Given the description of an element on the screen output the (x, y) to click on. 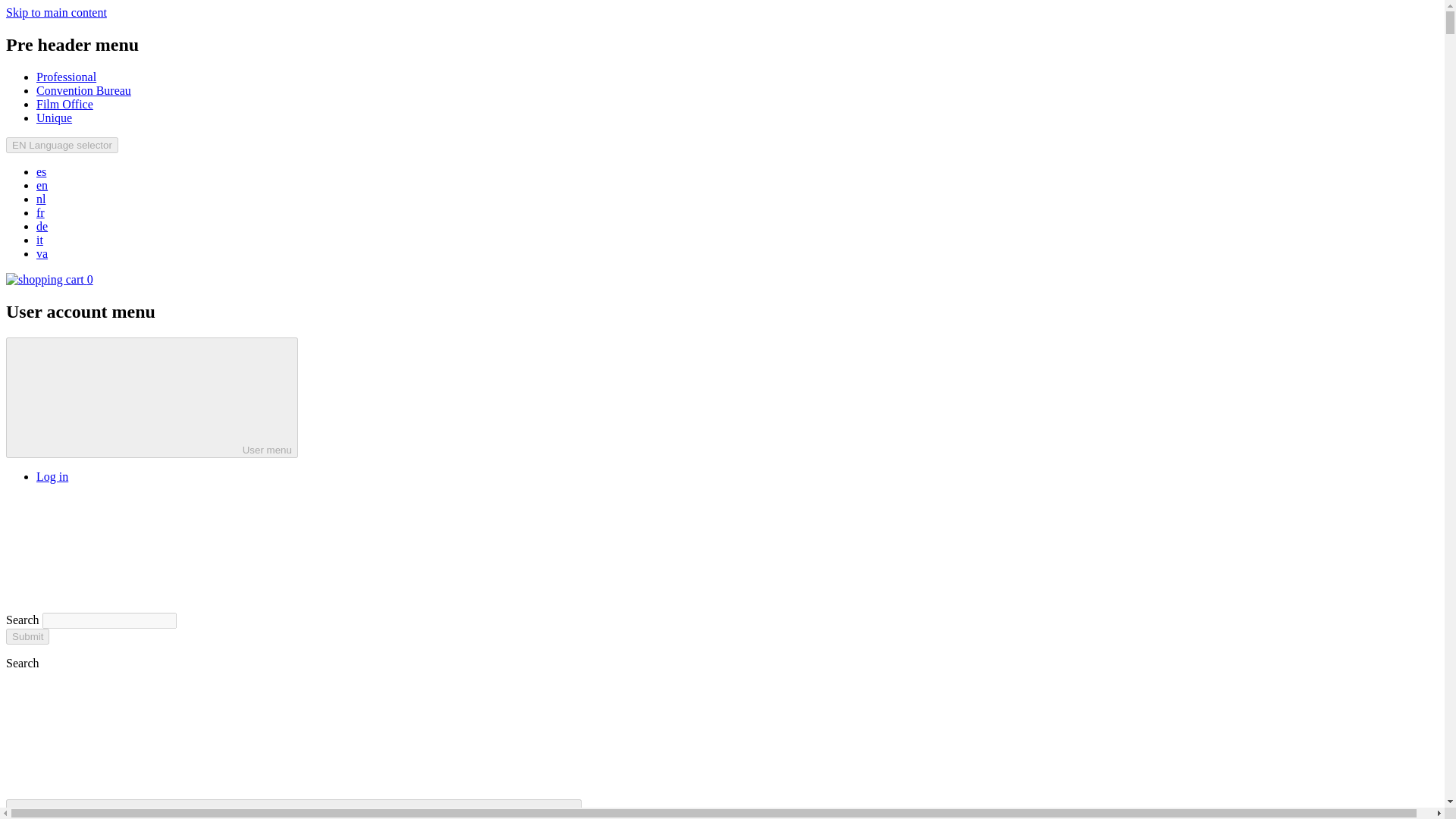
Mobile menu expander (292, 809)
Log in (52, 476)
EN Language selector (61, 145)
user menu dropdown (125, 396)
Submit (27, 636)
Unique (53, 117)
Close (118, 739)
Skip to main content (55, 11)
Search button (118, 552)
Film Office (64, 103)
